Given the description of an element on the screen output the (x, y) to click on. 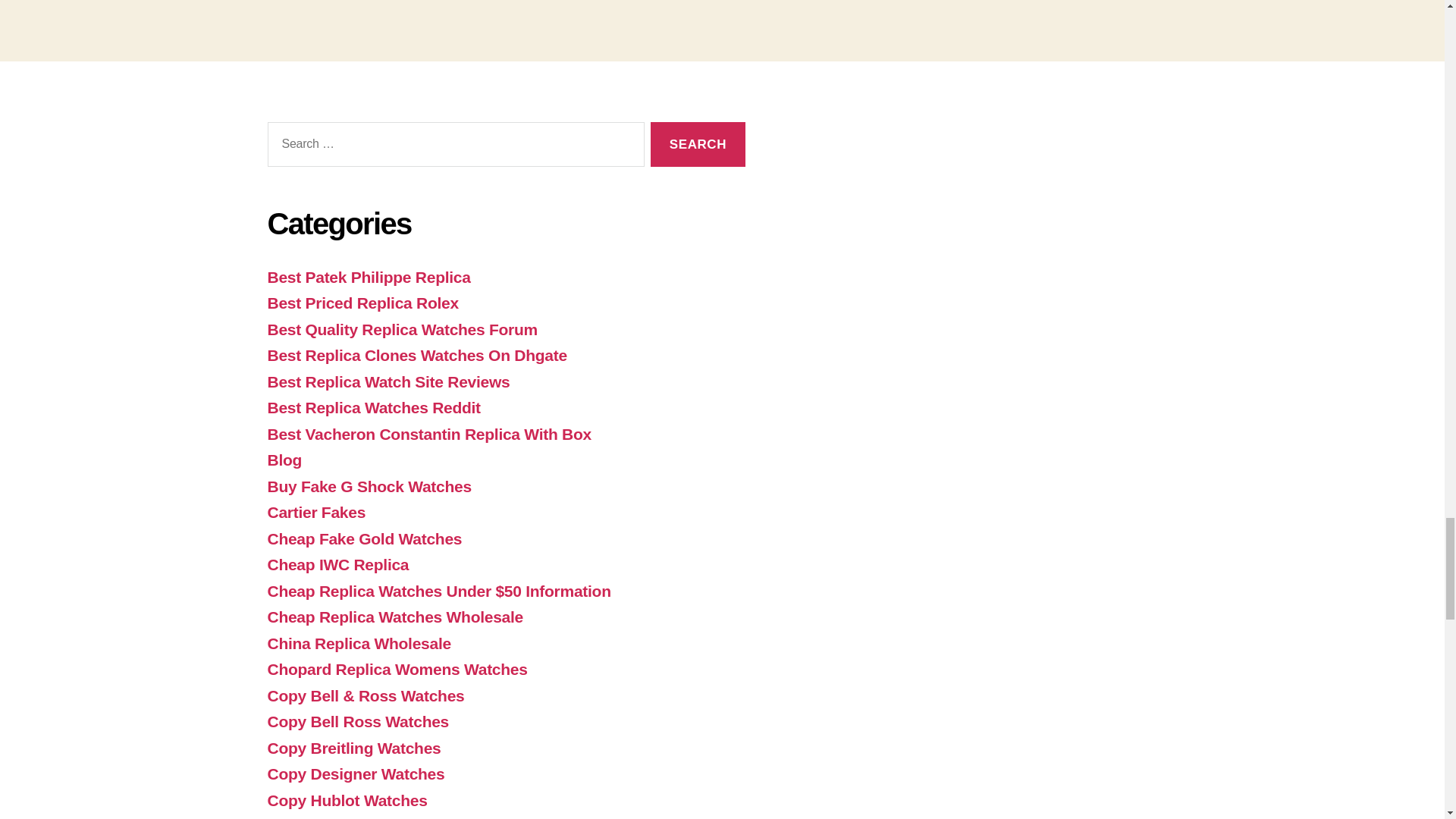
Best Replica Clones Watches On Dhgate (416, 354)
Cartier Fakes (315, 511)
Best Patek Philippe Replica (368, 276)
Best Vacheron Constantin Replica With Box (428, 434)
Buy Fake G Shock Watches (368, 486)
Cheap IWC Replica (337, 564)
Best Replica Watch Site Reviews (387, 381)
Best Priced Replica Rolex (362, 303)
Best Replica Watches Reddit (373, 407)
Search (697, 144)
